Given the description of an element on the screen output the (x, y) to click on. 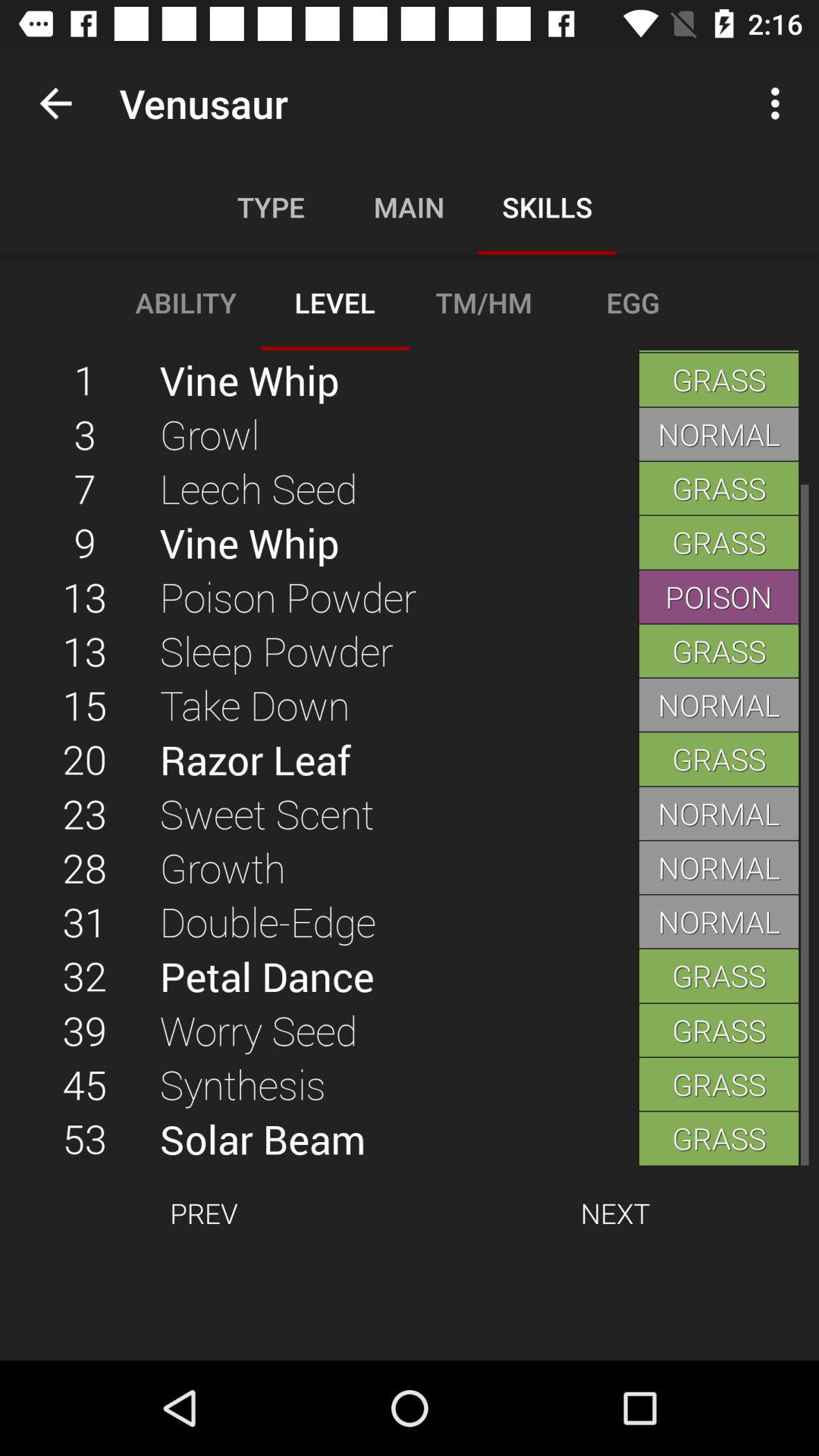
choose the item next to the growl item (84, 487)
